Given the description of an element on the screen output the (x, y) to click on. 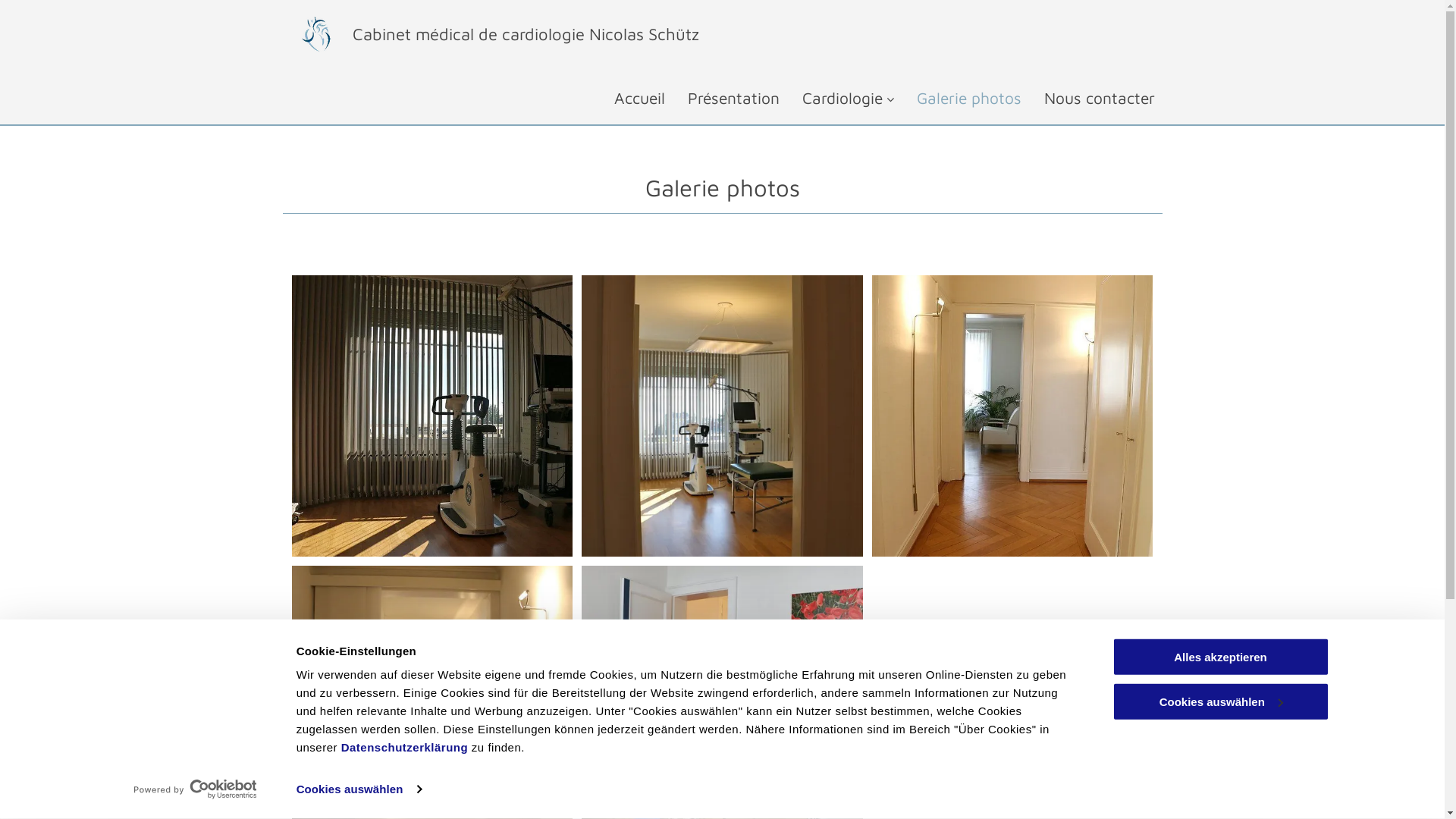
Cardiologie Element type: text (836, 97)
Alles akzeptieren Element type: text (1219, 656)
Nous contacter Element type: text (1087, 97)
Accueil Element type: text (628, 97)
Galerie photos Element type: text (956, 97)
